Given the description of an element on the screen output the (x, y) to click on. 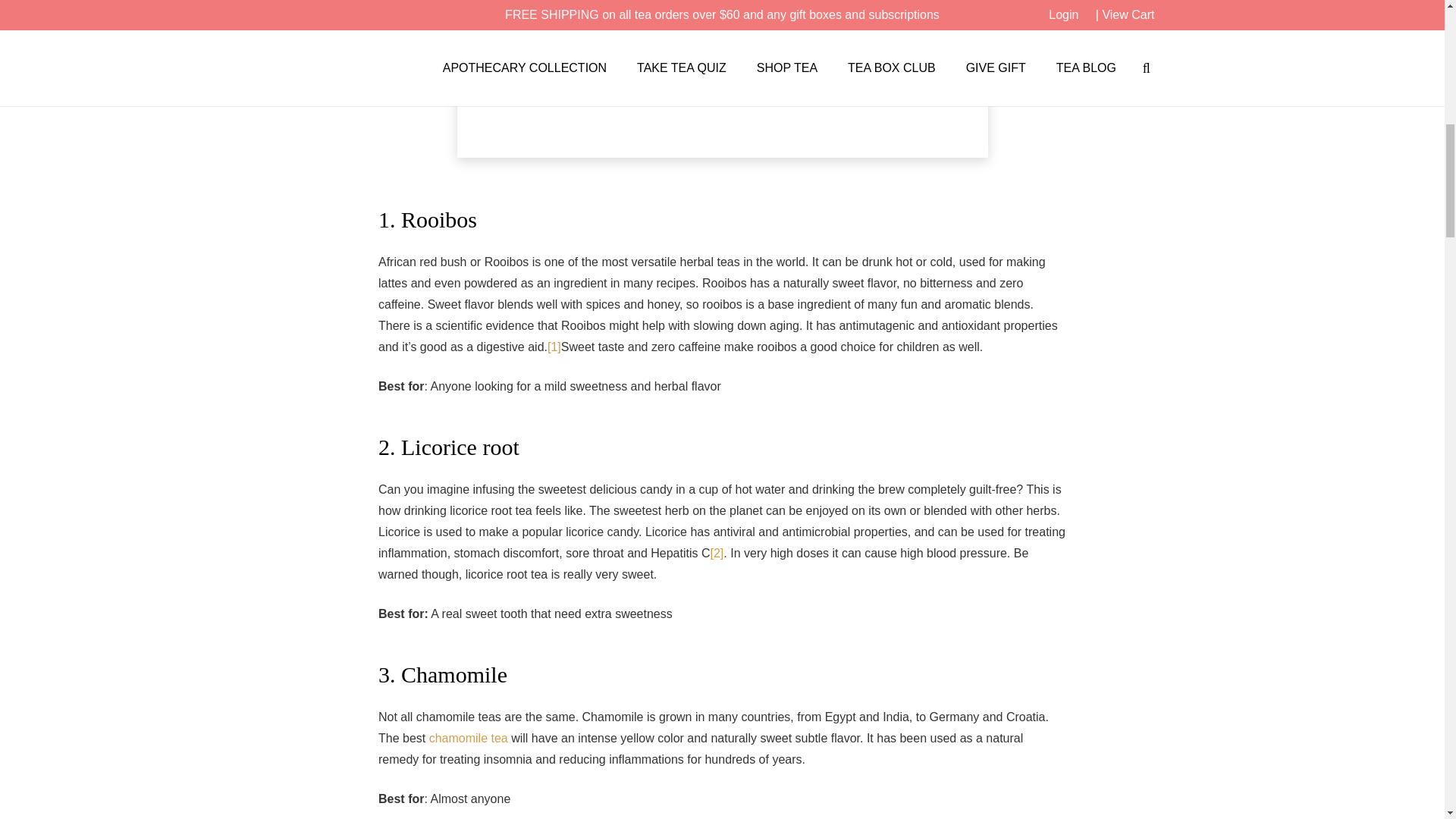
Back to top (1413, 30)
